Given the description of an element on the screen output the (x, y) to click on. 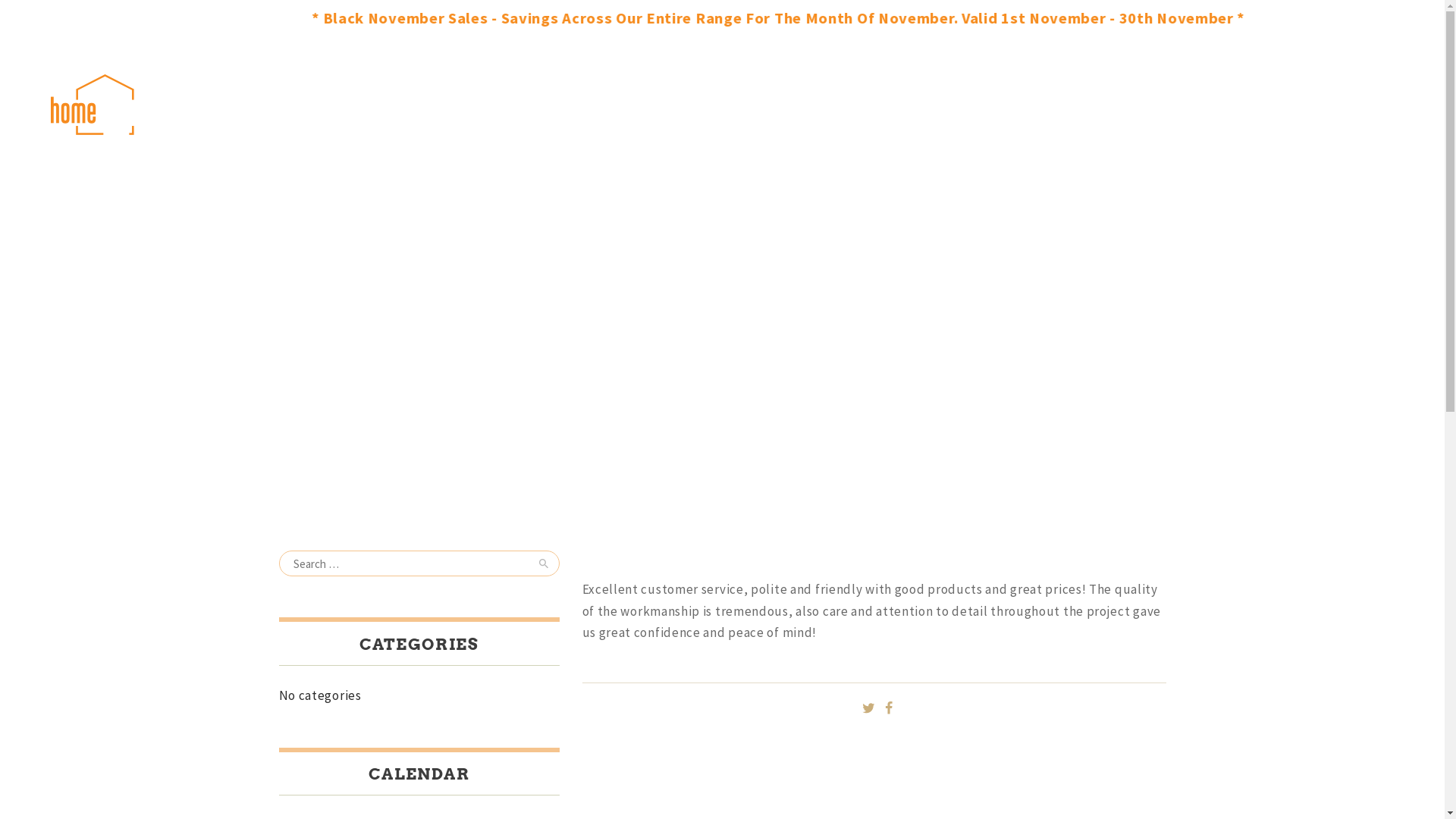
Search Element type: text (541, 563)
SHOP FURNITURE Element type: text (599, 104)
Home Element type: text (679, 290)
CONTACT Element type: text (939, 104)
SHOP HEATING Element type: text (727, 104)
HOME Element type: text (495, 104)
